Given the description of an element on the screen output the (x, y) to click on. 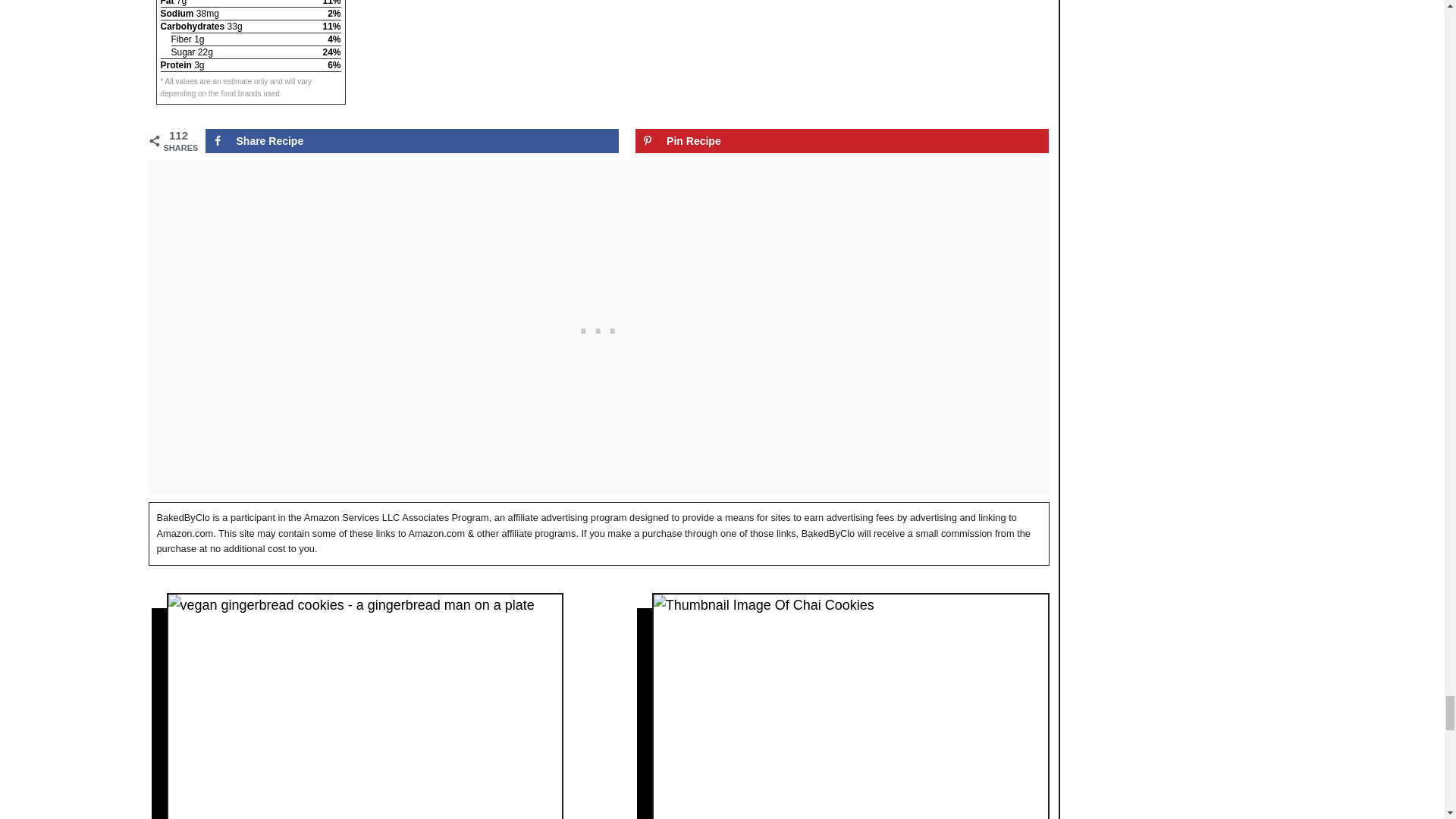
Share on Facebook (411, 140)
Save to Pinterest (841, 140)
